Given the description of an element on the screen output the (x, y) to click on. 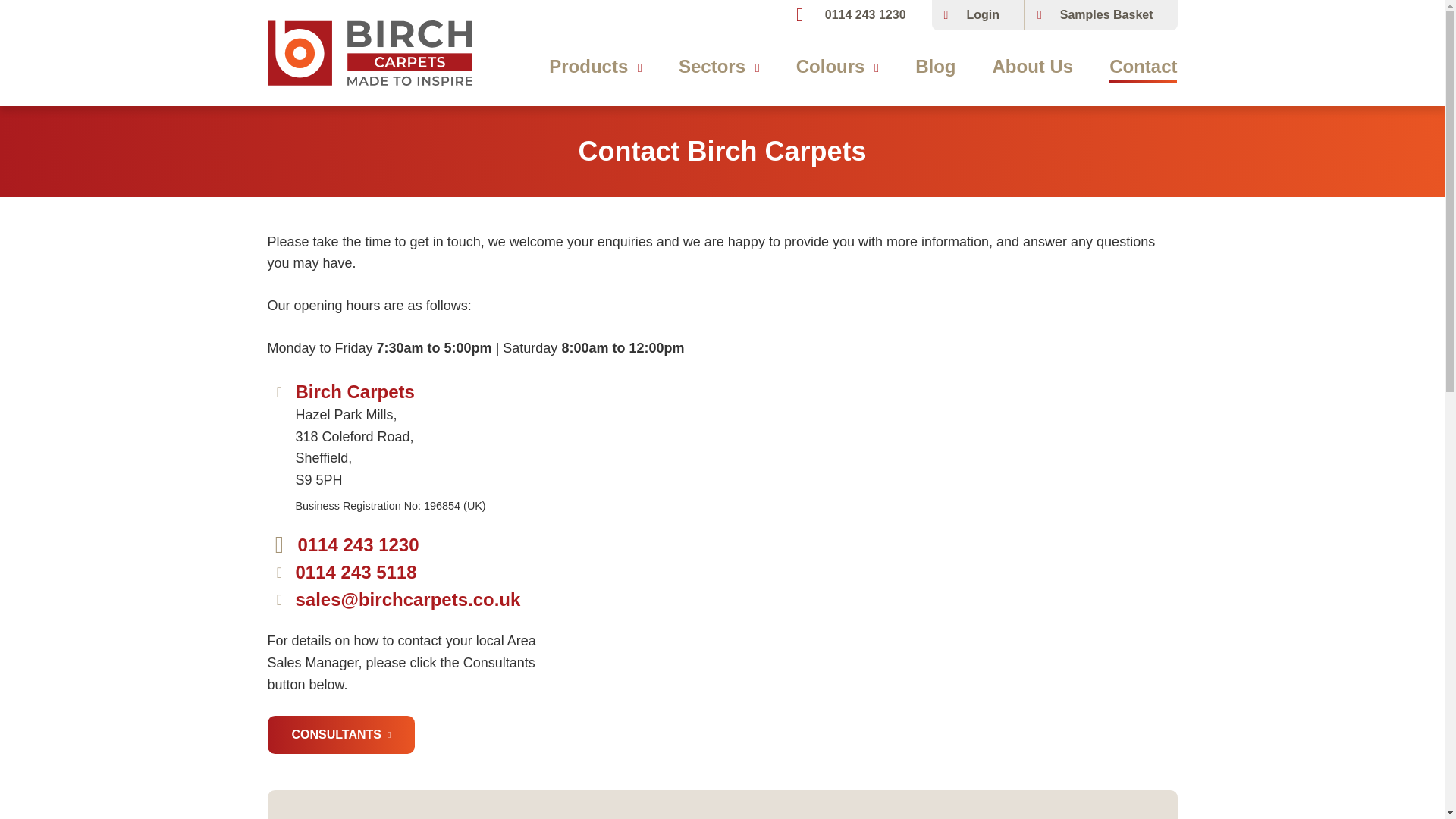
Products (595, 66)
Login (977, 15)
0114 243 1230 (857, 15)
Sectors (719, 66)
Samples Basket (1101, 15)
